Given the description of an element on the screen output the (x, y) to click on. 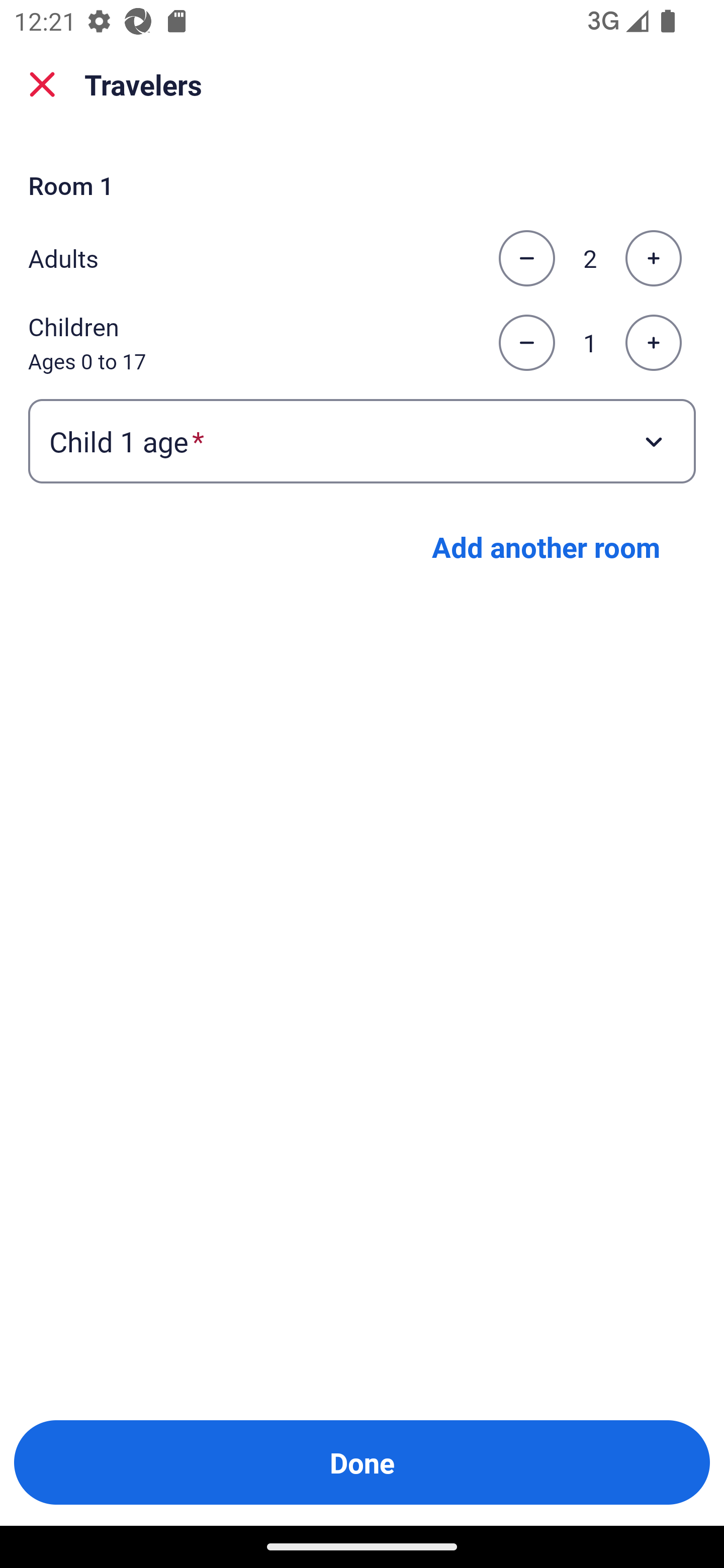
close (42, 84)
Decrease the number of adults (526, 258)
Increase the number of adults (653, 258)
Decrease the number of children (526, 343)
Increase the number of children (653, 343)
Child 1 age required Button (361, 440)
Add another room (545, 546)
Done (361, 1462)
